Given the description of an element on the screen output the (x, y) to click on. 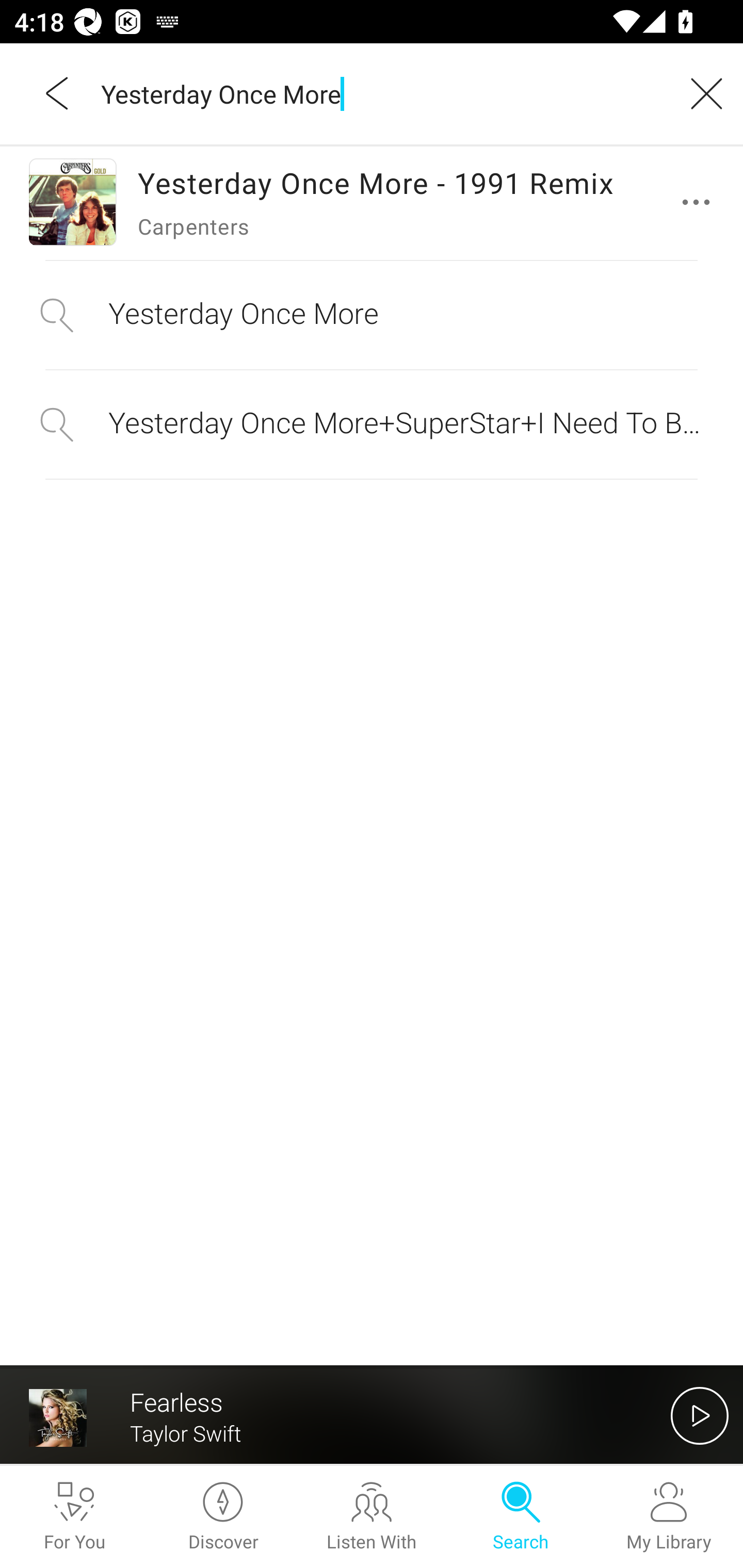
Yesterday Once More (378, 92)
Clear query (699, 92)
Back,outside of the list (57, 93)
更多操作選項 (699, 202)
Yesterday Once More (371, 315)
Yesterday Once More+SuperStar+I Need To Be In Love (371, 424)
開始播放 (699, 1415)
For You (74, 1517)
Discover (222, 1517)
Listen With (371, 1517)
Search (519, 1517)
My Library (668, 1517)
